Given the description of an element on the screen output the (x, y) to click on. 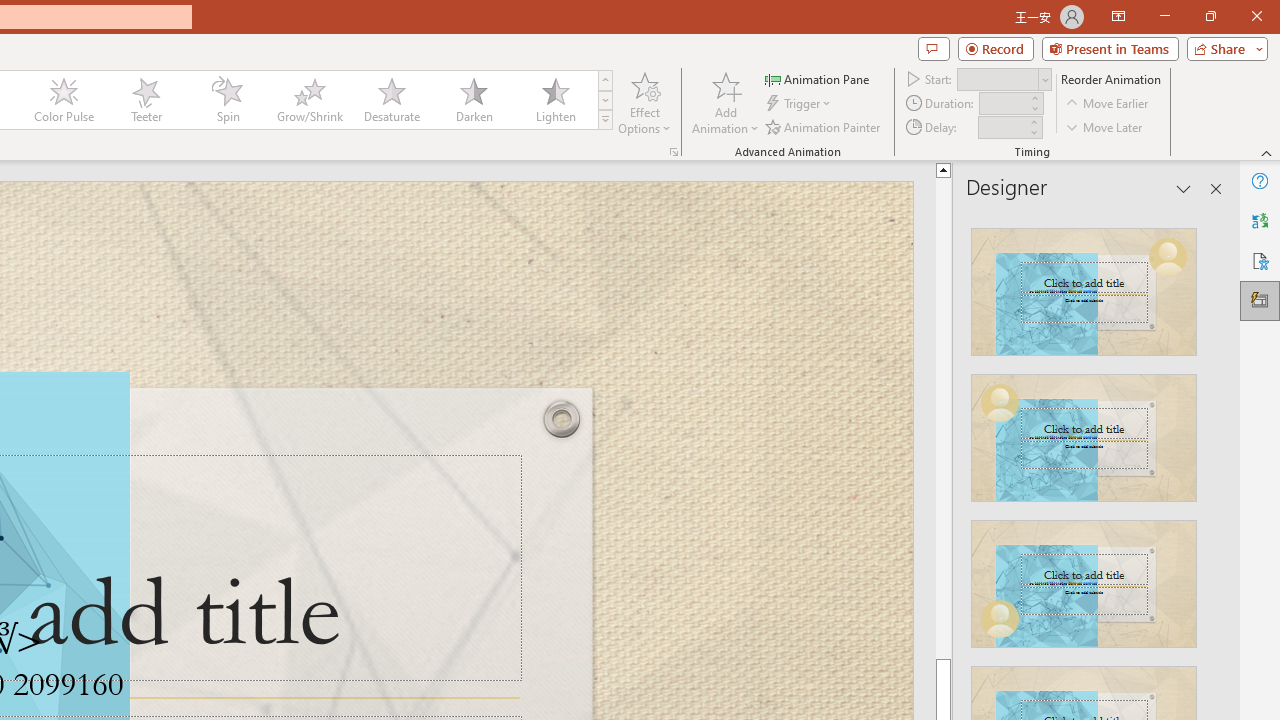
Animation Styles (605, 120)
Teeter (145, 100)
Add Animation (725, 102)
Spin (227, 100)
Move Earlier (1107, 103)
Animation Painter (824, 126)
